Given the description of an element on the screen output the (x, y) to click on. 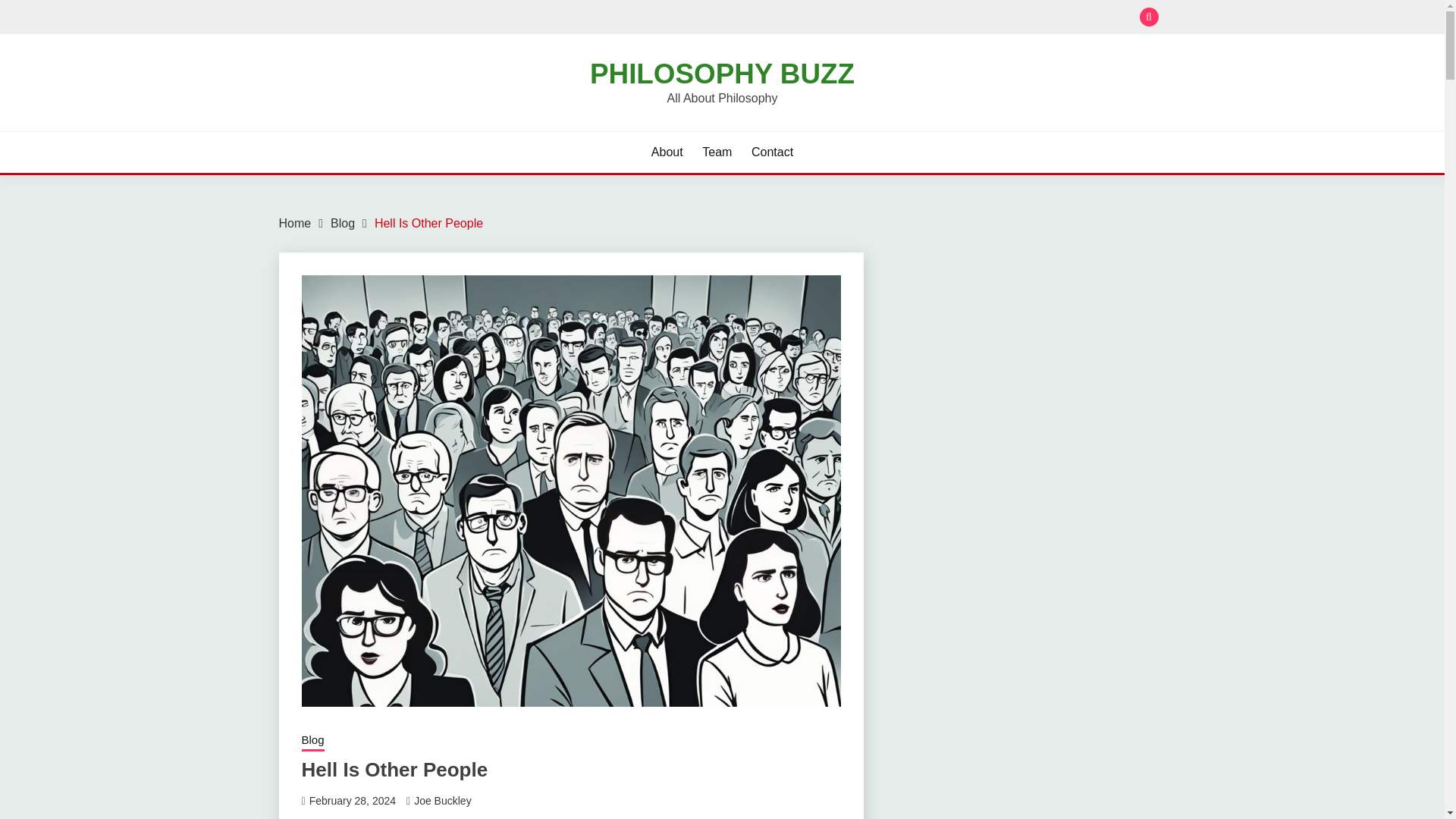
About (666, 152)
February 28, 2024 (352, 800)
Home (295, 223)
Team (716, 152)
Hell Is Other People (428, 223)
Contact (772, 152)
Joe Buckley (441, 800)
PHILOSOPHY BUZZ (721, 73)
Search (832, 18)
Blog (342, 223)
Blog (312, 741)
